Given the description of an element on the screen output the (x, y) to click on. 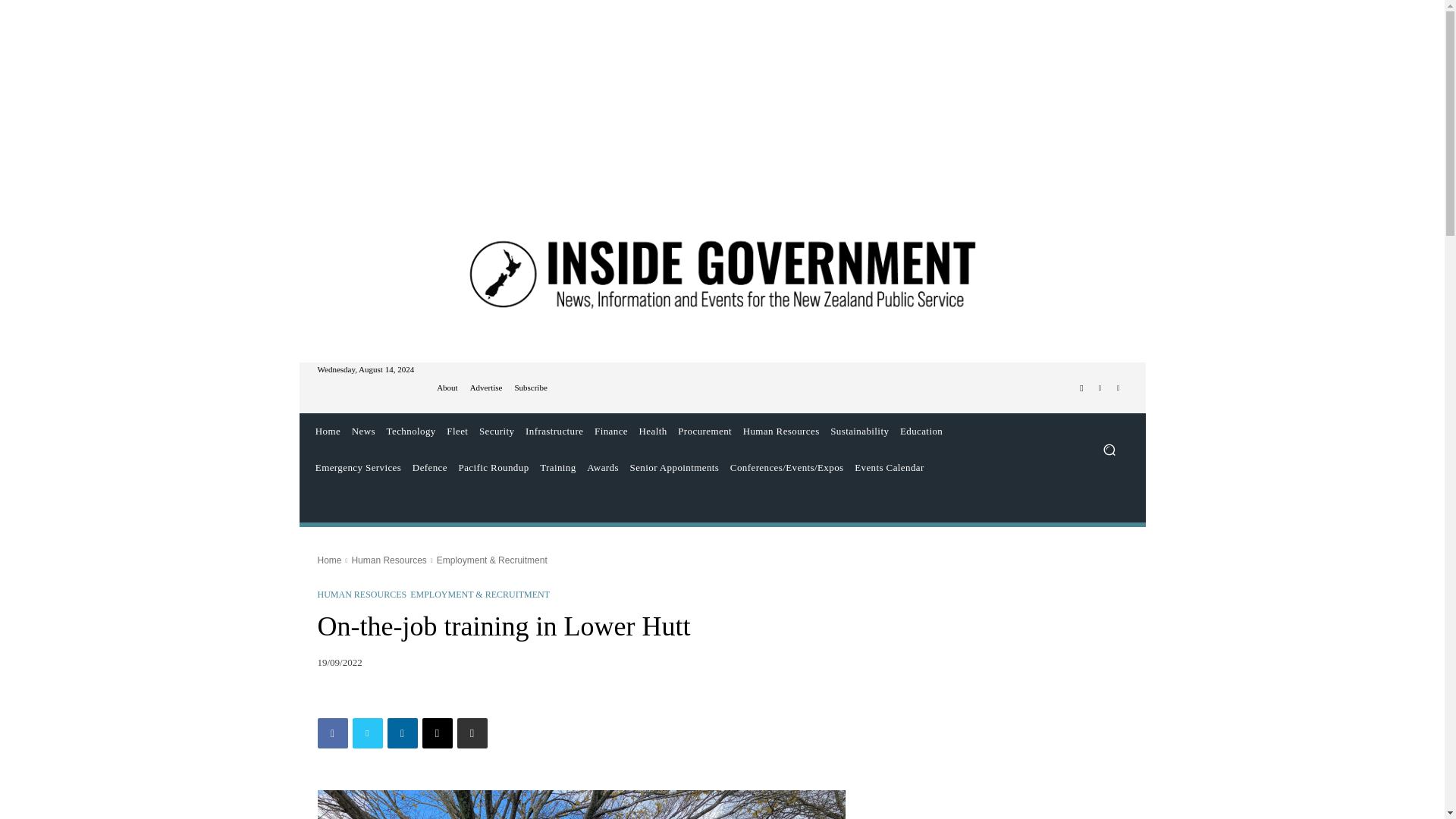
Finance (611, 431)
Linkedin (1117, 388)
Twitter (1099, 388)
Health (652, 431)
Human Resources (780, 431)
Linkedin (401, 733)
Technology (410, 431)
News (363, 431)
Email (436, 733)
